Given the description of an element on the screen output the (x, y) to click on. 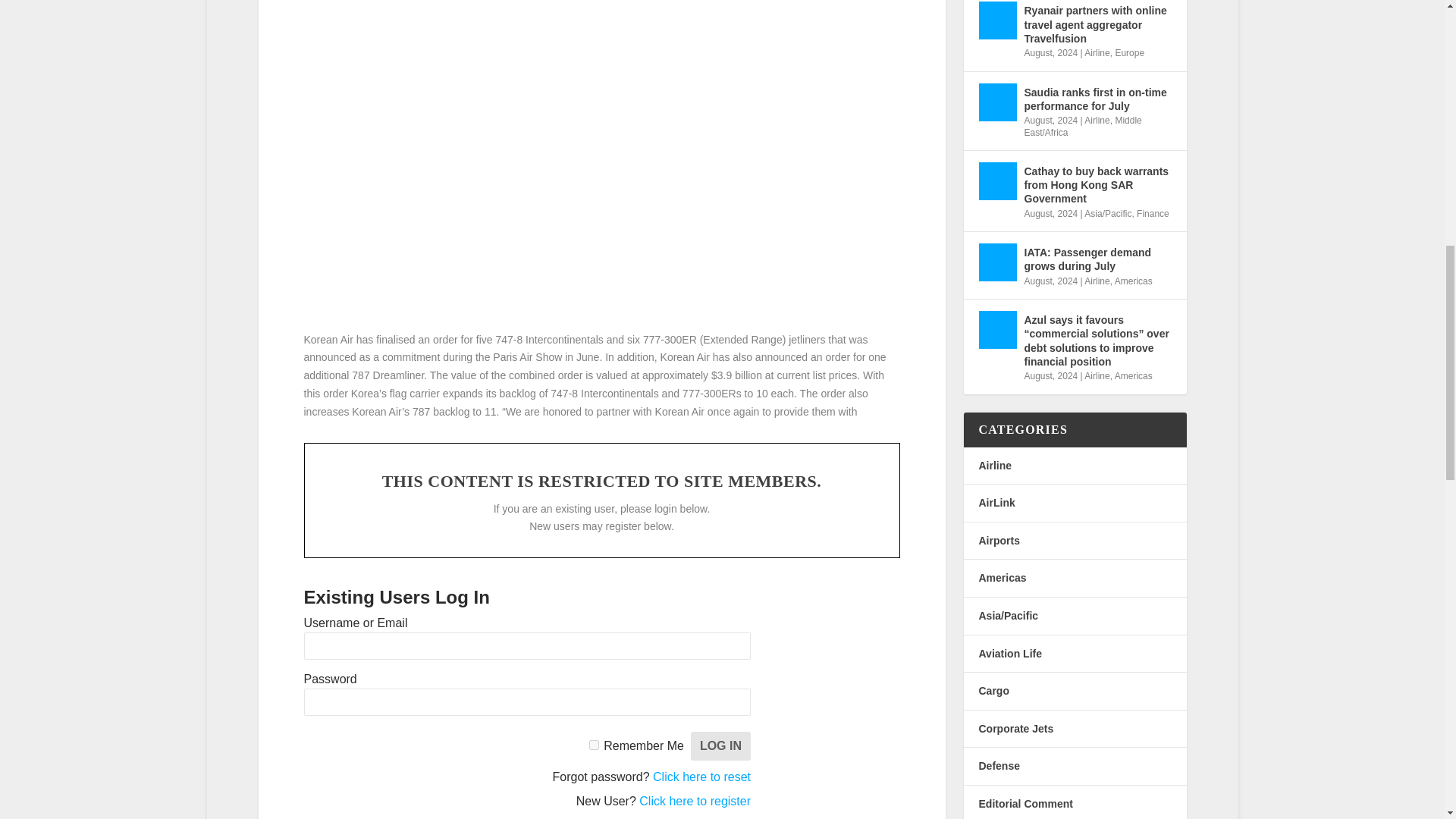
Cathay to buy back warrants from Hong Kong SAR Government (997, 180)
Saudia ranks first in on-time performance for July (997, 102)
forever (593, 745)
Log In (720, 746)
